Given the description of an element on the screen output the (x, y) to click on. 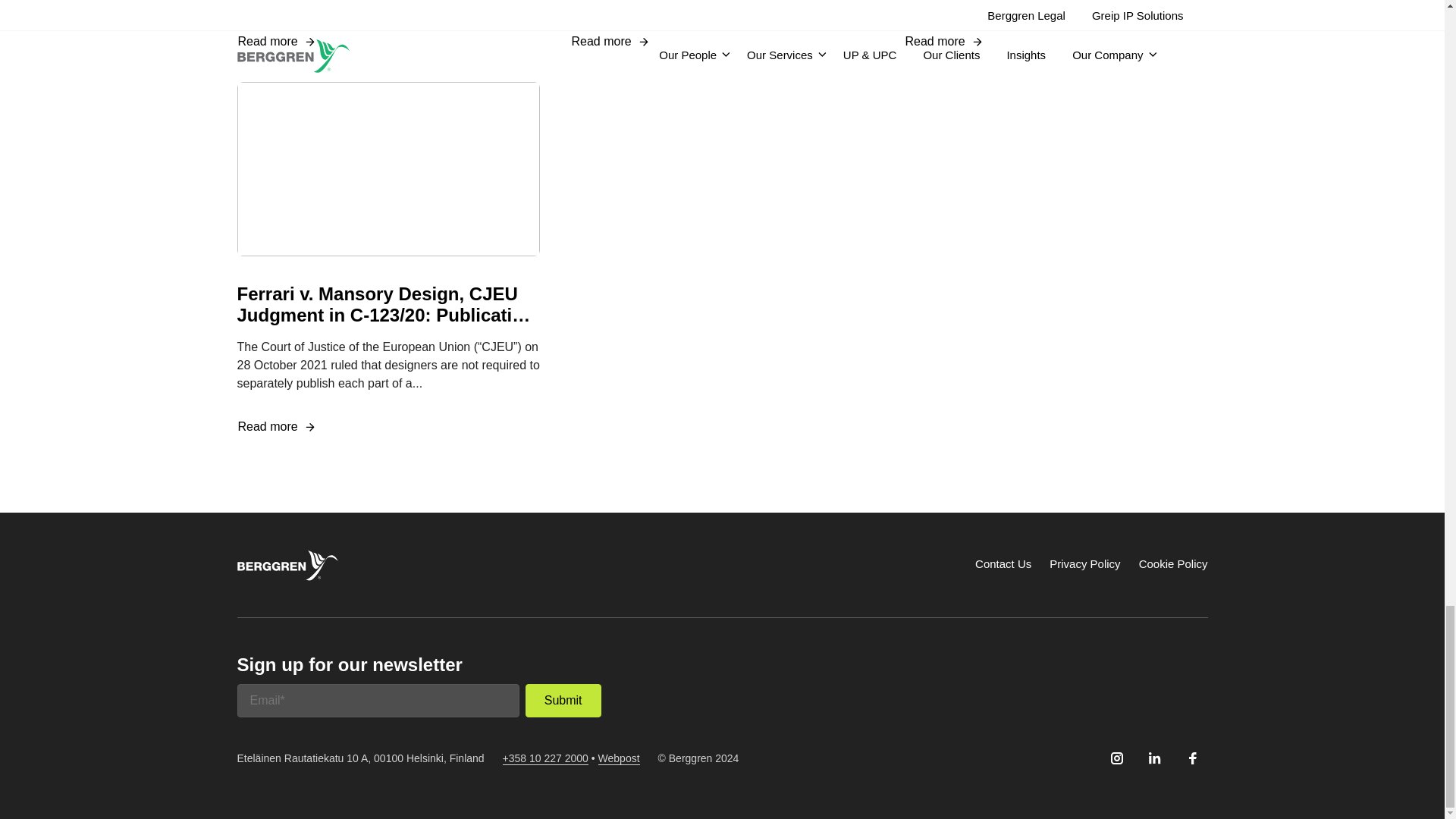
Read more (275, 41)
Submit (563, 700)
